Given the description of an element on the screen output the (x, y) to click on. 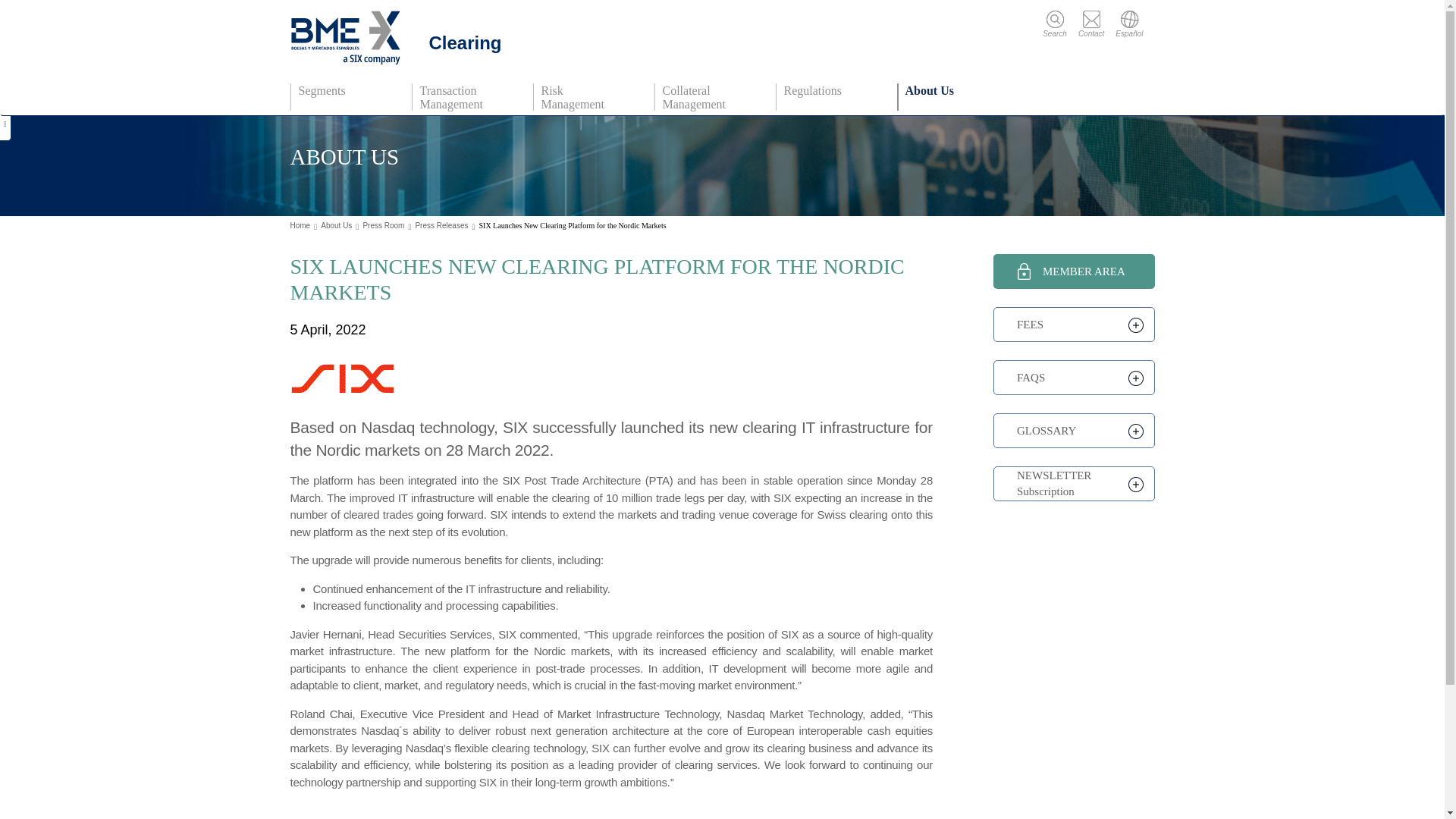
Contact (1096, 23)
Clearing (400, 37)
Segments (348, 96)
Search (1060, 23)
